Given the description of an element on the screen output the (x, y) to click on. 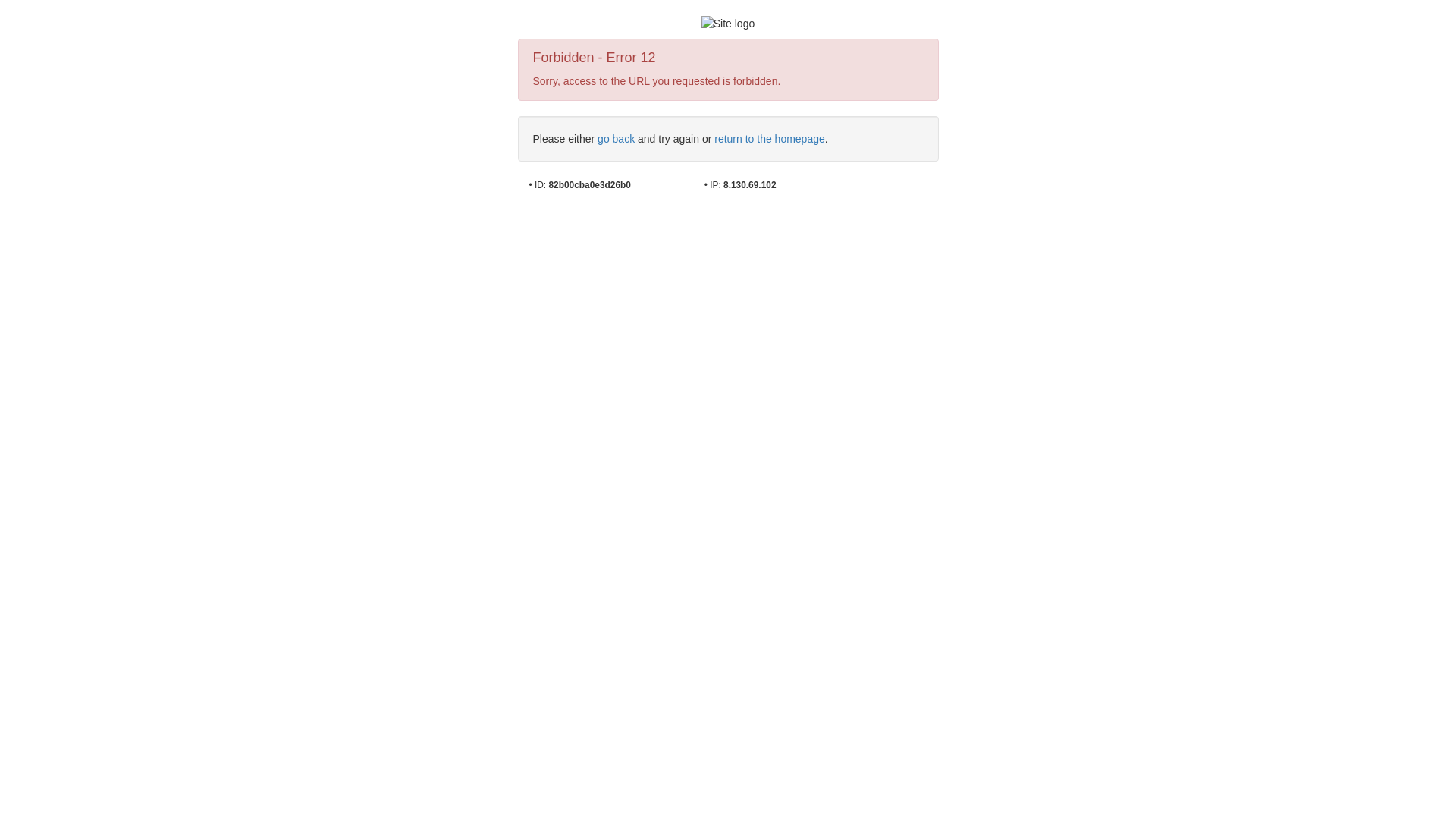
return to the homepage Element type: text (769, 138)
go back Element type: text (615, 138)
